Given the description of an element on the screen output the (x, y) to click on. 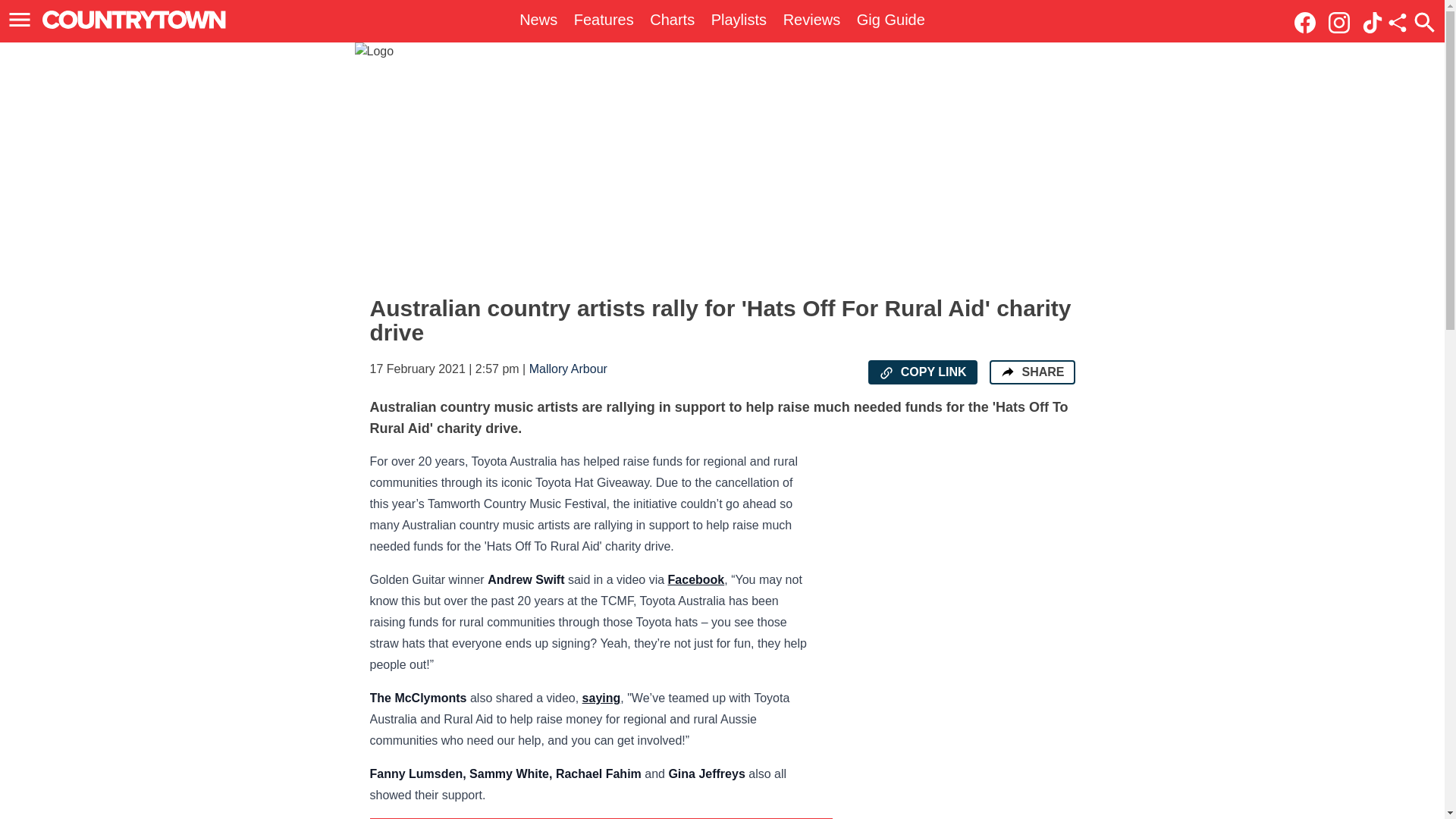
Share the page SHARE (1032, 372)
Copy the page URL COPY LINK (921, 372)
Playlists (739, 19)
Open the site search menu (1424, 22)
Share this page (1397, 22)
Open the site search menu (1424, 22)
Open the main menu (19, 19)
News (538, 19)
Charts (671, 19)
Share this page (1397, 22)
Link to our Instagram (1338, 22)
Link to our Instagram (1342, 21)
Features (603, 19)
Open the main menu (22, 19)
Facebook (696, 579)
